Given the description of an element on the screen output the (x, y) to click on. 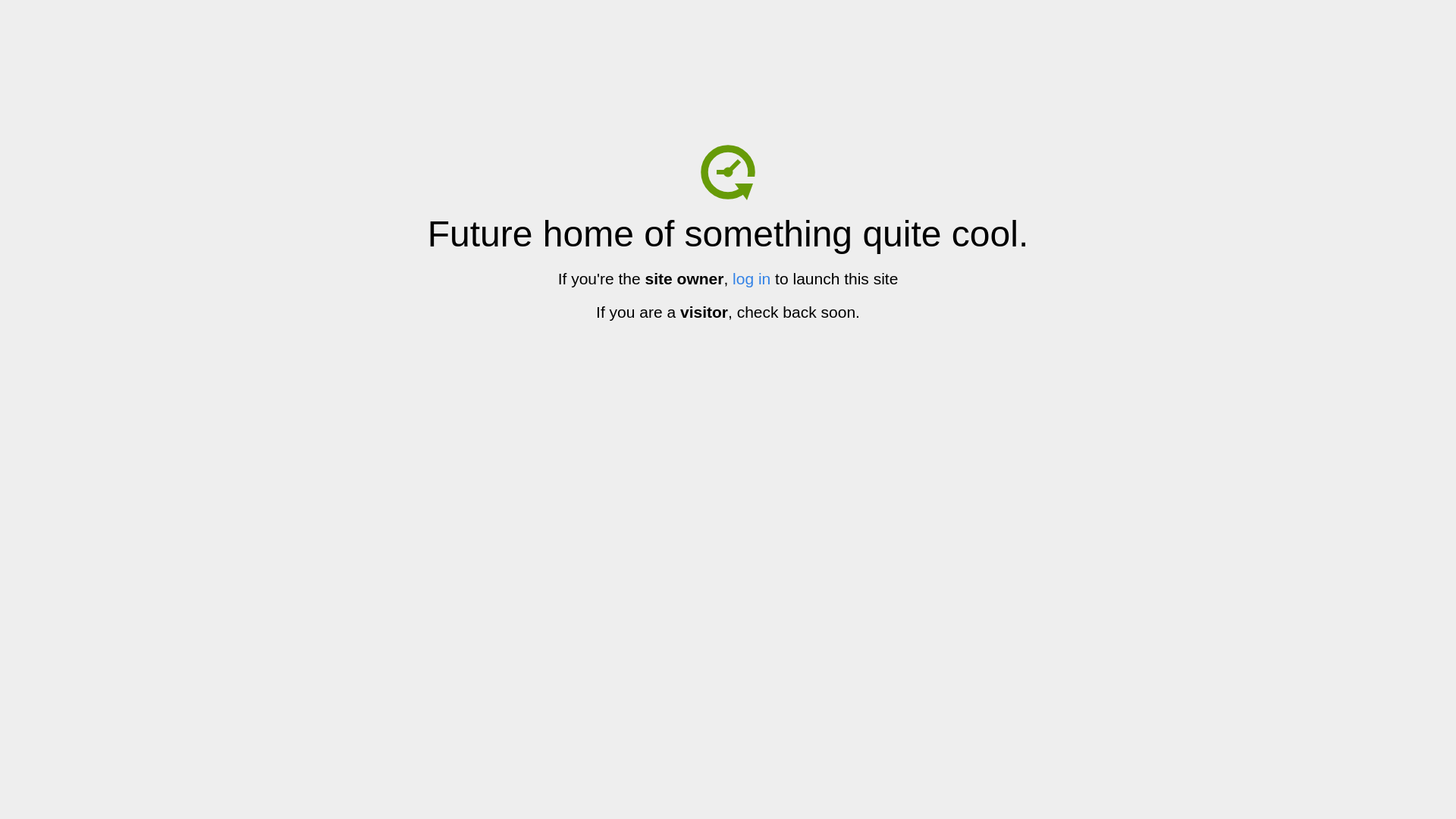
log in Element type: text (751, 278)
